Given the description of an element on the screen output the (x, y) to click on. 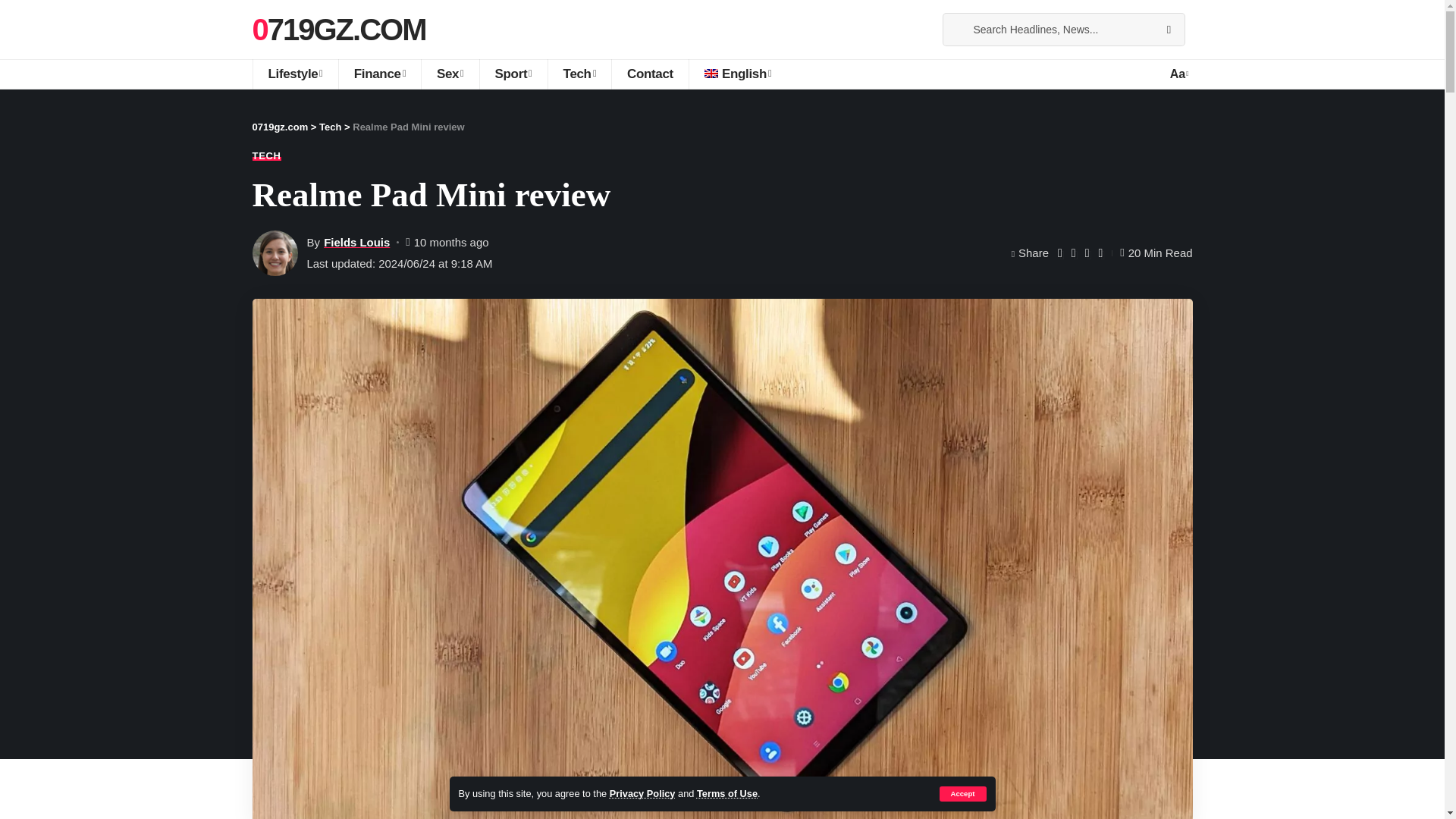
0719GZ.COM (338, 29)
Privacy Policy (642, 793)
Accept (962, 793)
Finance (378, 73)
Terms of Use (727, 793)
Sex (449, 73)
Search (1168, 29)
0719gz.com (338, 29)
Lifestyle (294, 73)
